Given the description of an element on the screen output the (x, y) to click on. 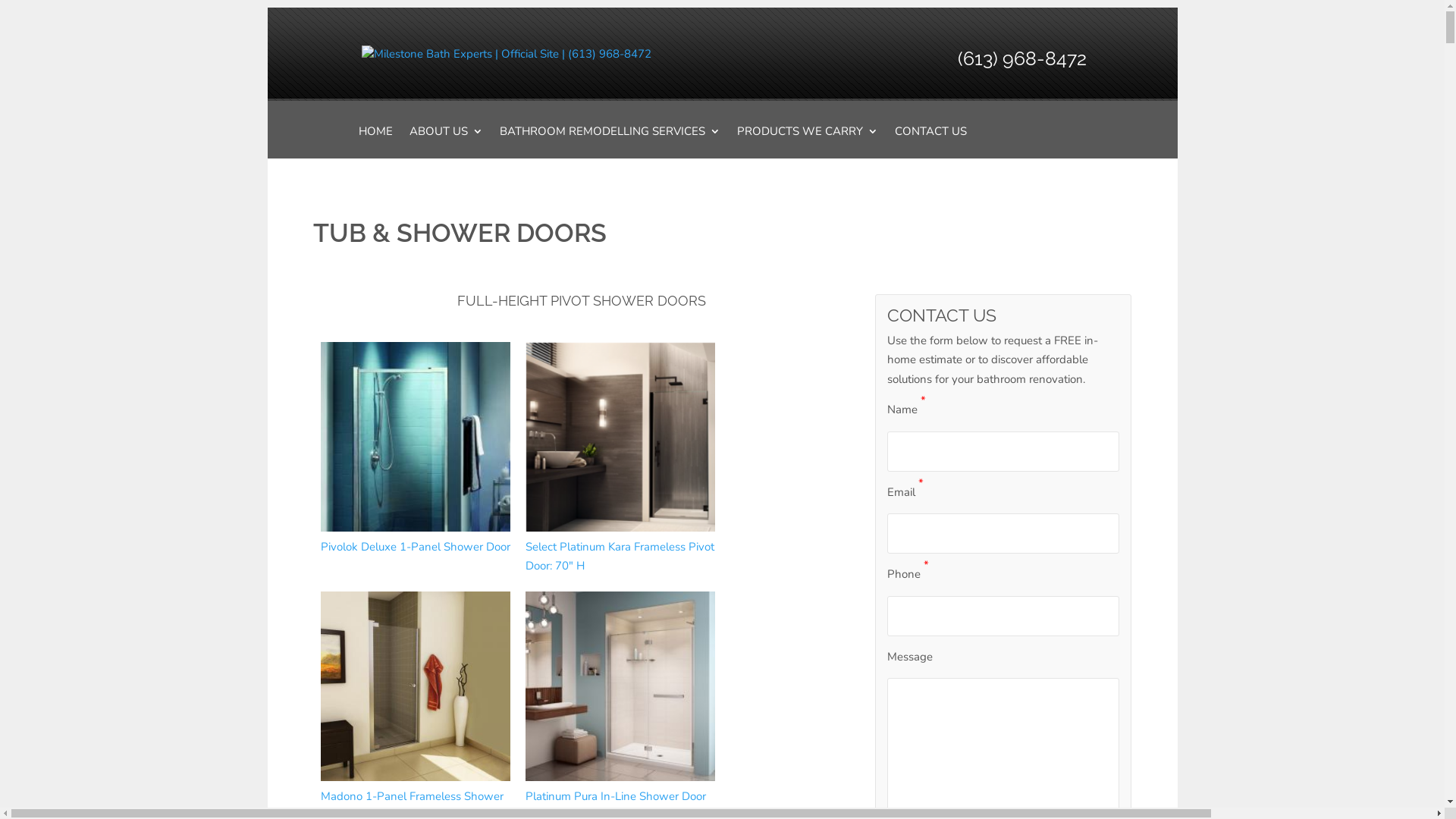
PRODUCTS WE CARRY Element type: text (807, 141)
ABOUT US Element type: text (446, 141)
BATHROOM REMODELLING SERVICES Element type: text (608, 141)
Select Platinum Kara Frameless Pivot Door: 70" H Element type: text (619, 458)
HOME Element type: text (374, 141)
Pivolok Deluxe 1-Panel Shower Door Element type: text (414, 448)
(613) 968-8472 Element type: text (1021, 58)
CONTACT US Element type: text (930, 141)
